Given the description of an element on the screen output the (x, y) to click on. 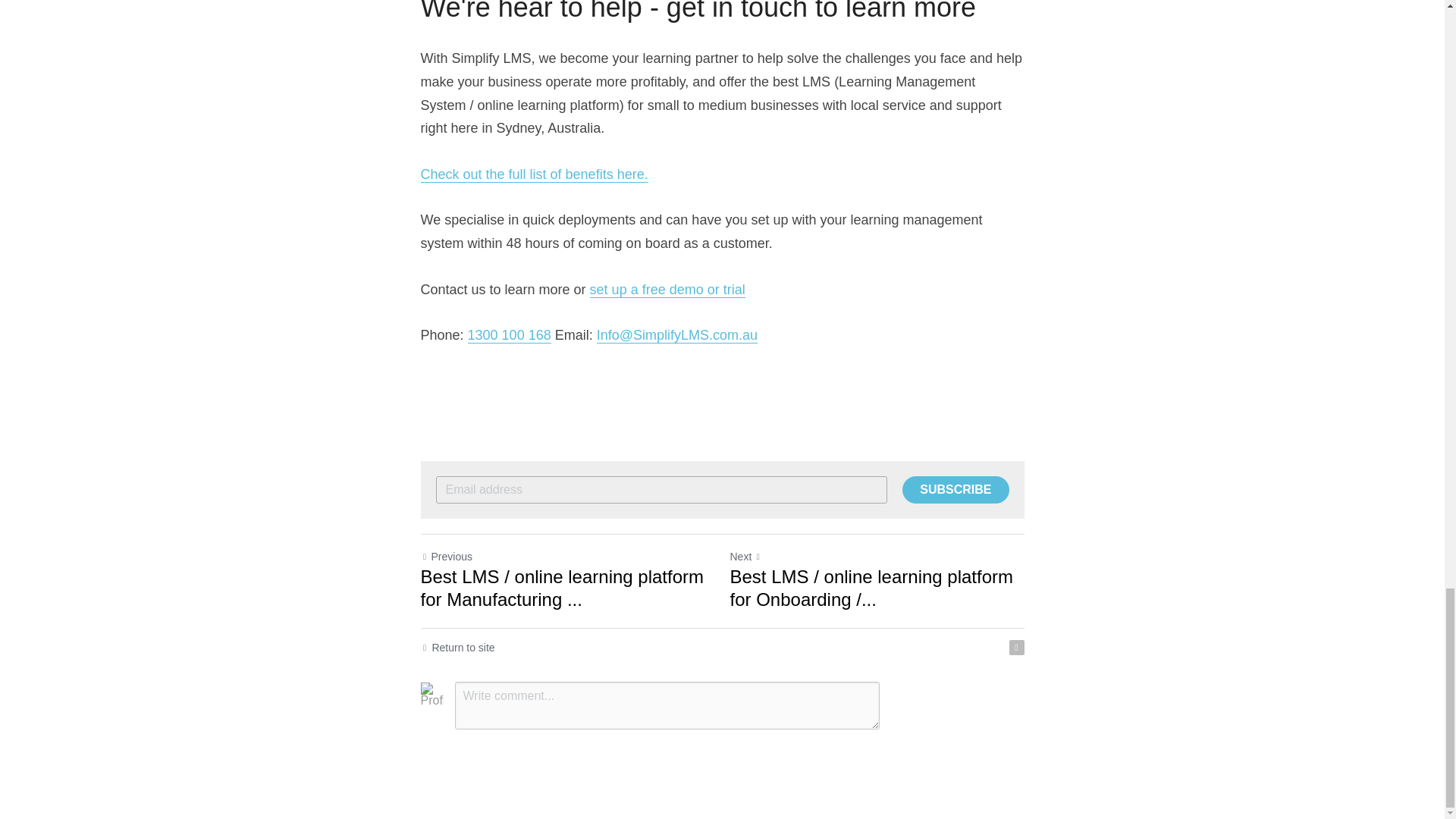
 Return to site (457, 647)
Previous (445, 556)
1300 100 168 (509, 335)
Next (745, 556)
set up a free demo or trial (667, 289)
Check out the full list of benefits here. (533, 174)
